Given the description of an element on the screen output the (x, y) to click on. 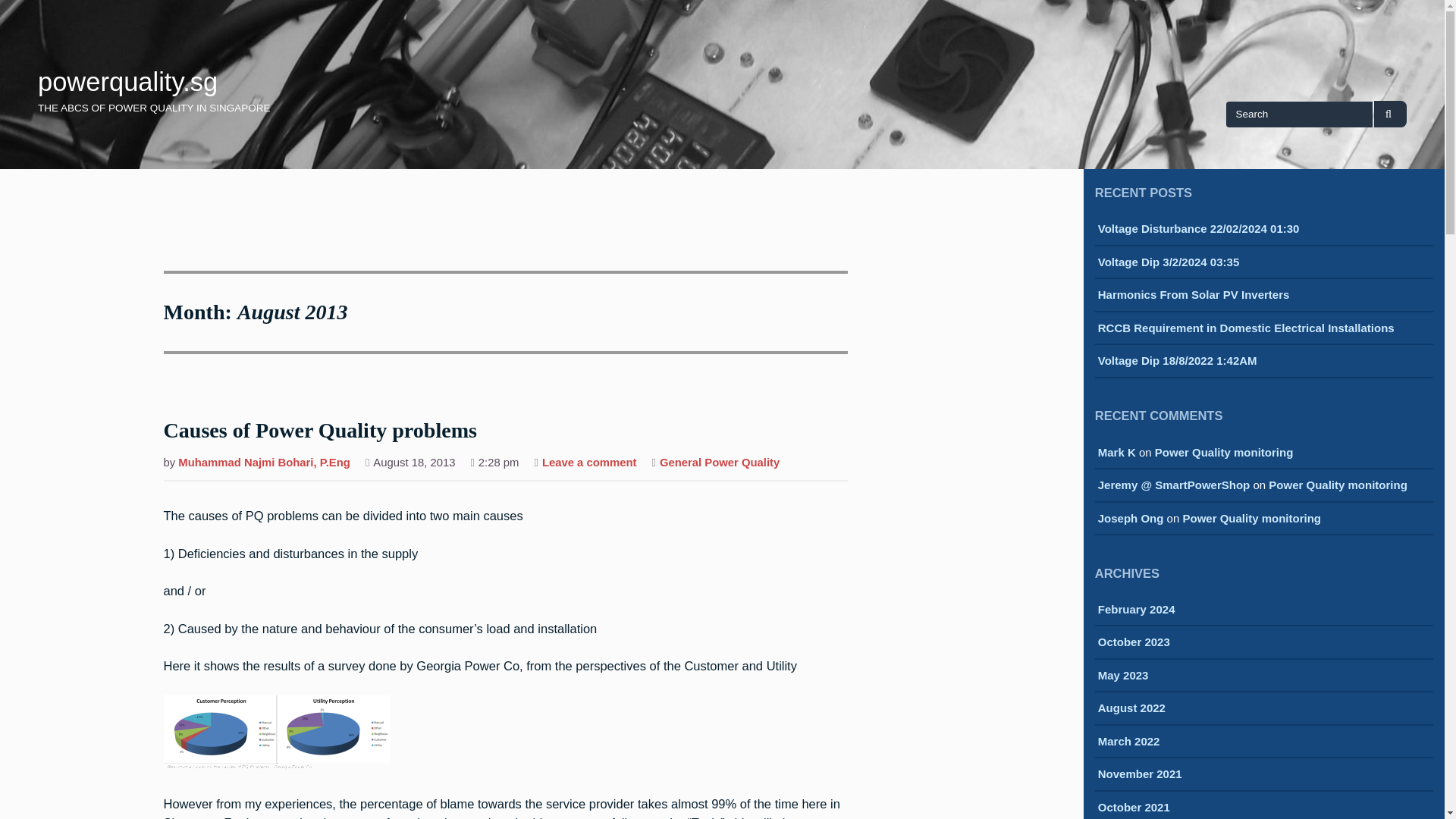
October 2021 (1133, 808)
Causes of Power Quality problems (320, 431)
November 2021 (1139, 774)
Muhammad Najmi Bohari, P.Eng (263, 463)
Harmonics From Solar PV Inverters (1193, 295)
General Power Quality (718, 463)
Posts by Muhammad Najmi Bohari, P.Eng (263, 463)
Power Quality monitoring (1251, 518)
Power Quality monitoring (1337, 485)
Mark K (1116, 452)
